Given the description of an element on the screen output the (x, y) to click on. 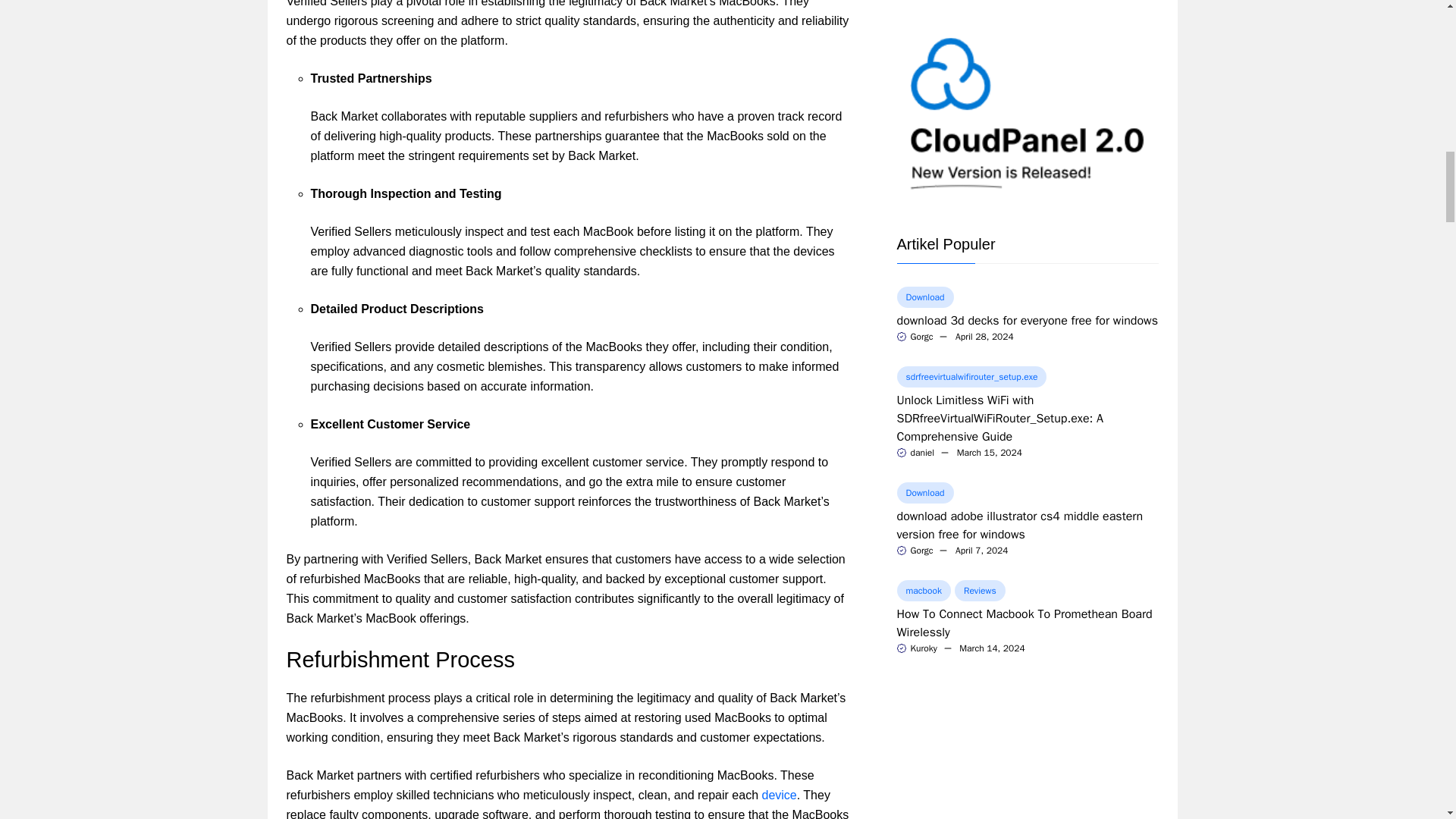
device (778, 794)
